Given the description of an element on the screen output the (x, y) to click on. 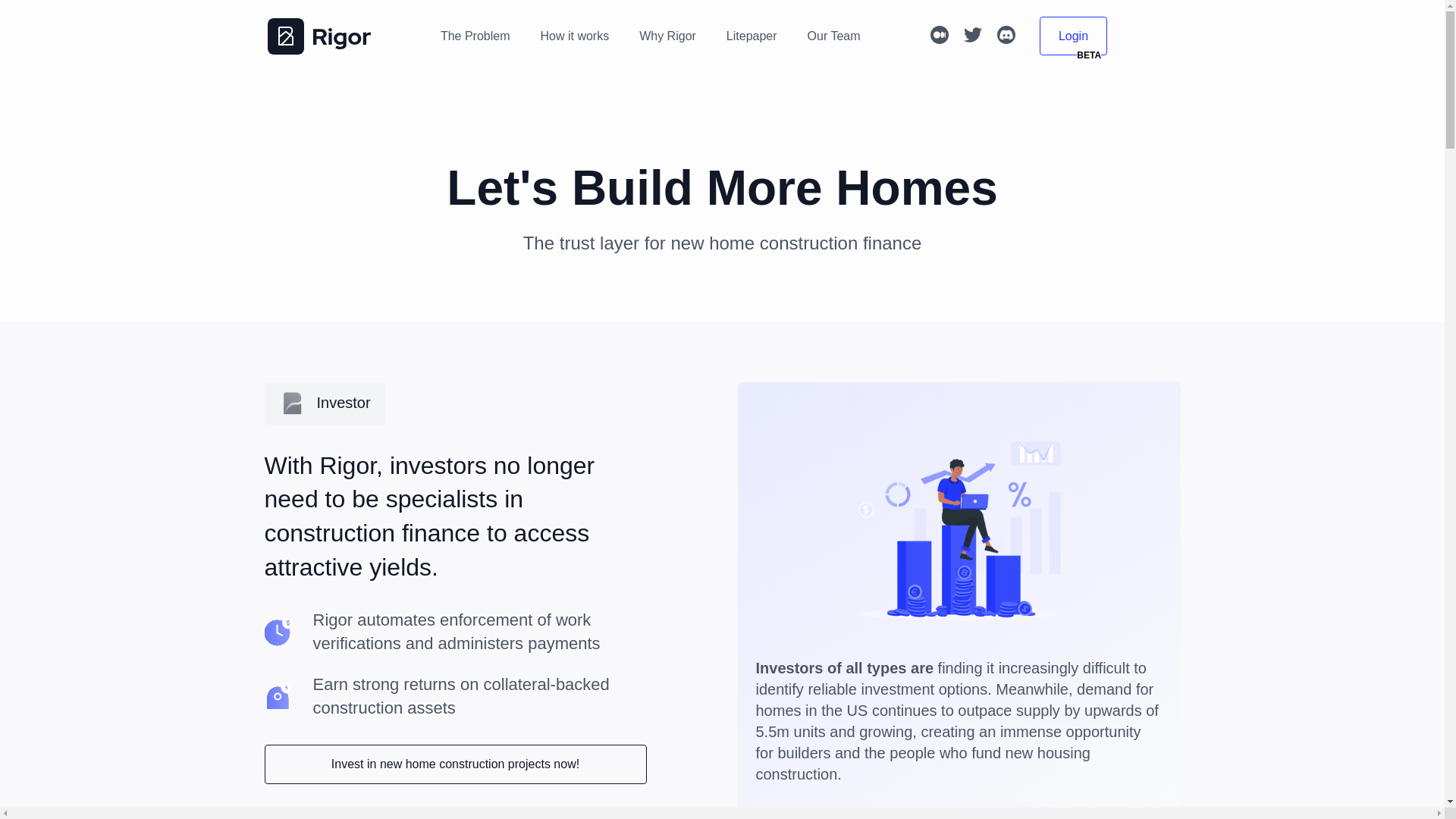
Litepaper Element type: text (751, 36)
Invest in new home construction projects now! Element type: text (454, 764)
Our Team Element type: text (833, 36)
Why Rigor Element type: text (667, 36)
How it works Element type: text (573, 36)
The Problem Element type: text (475, 36)
